Given the description of an element on the screen output the (x, y) to click on. 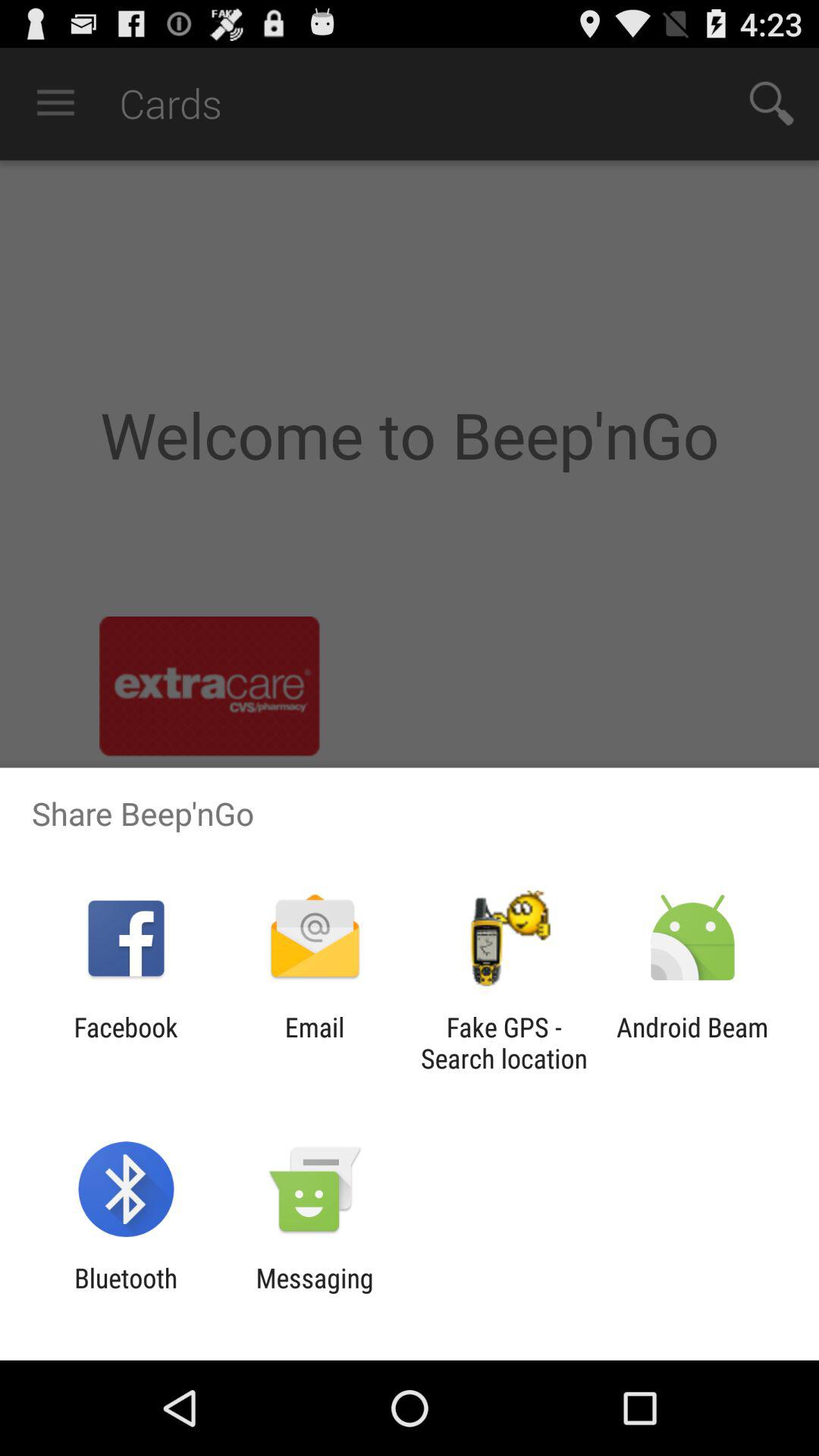
turn off item to the right of bluetooth item (314, 1293)
